Given the description of an element on the screen output the (x, y) to click on. 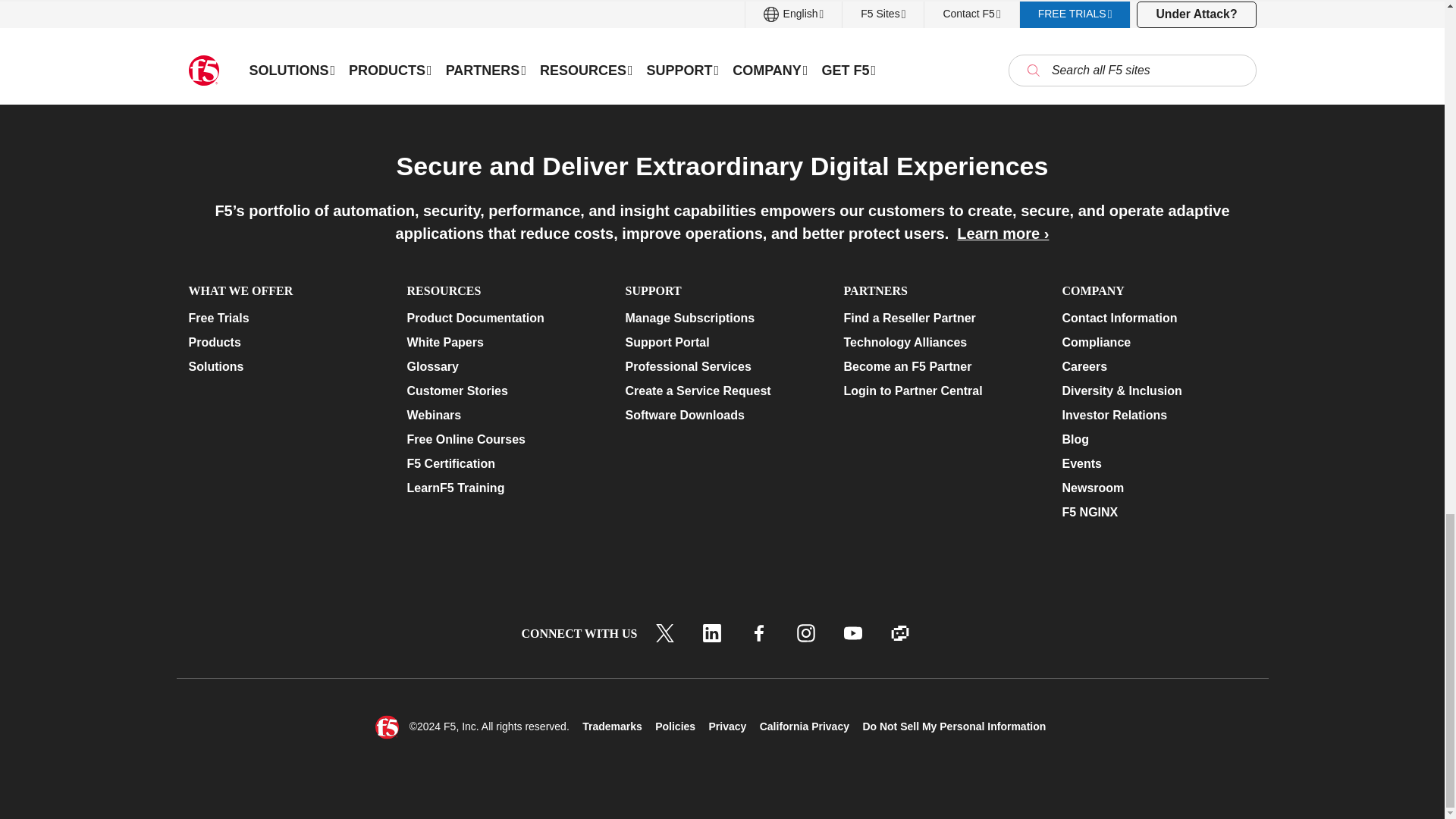
Support Portal (721, 342)
Webinars (502, 415)
Free Trials (284, 318)
Manage Subscriptions (721, 318)
Glossary (502, 366)
F5 Certification (502, 464)
Free Online Courses (502, 439)
Product Documentation (502, 318)
Customer Stories (502, 391)
Solutions (284, 366)
Products (284, 342)
White Papers (502, 342)
LearnF5 Training (502, 488)
